Given the description of an element on the screen output the (x, y) to click on. 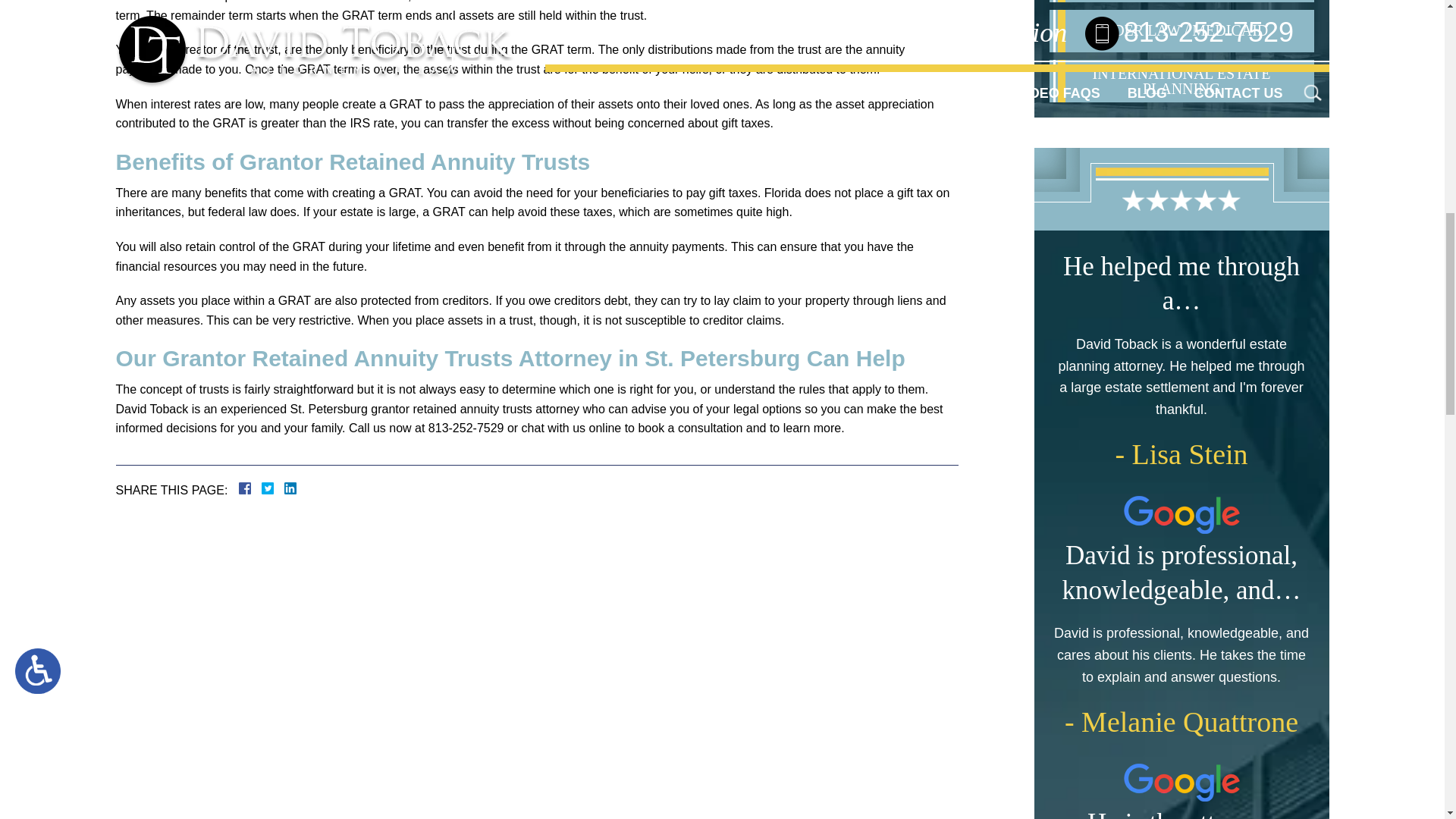
LinkedIn (284, 488)
Facebook (262, 488)
Twitter (273, 488)
